Given the description of an element on the screen output the (x, y) to click on. 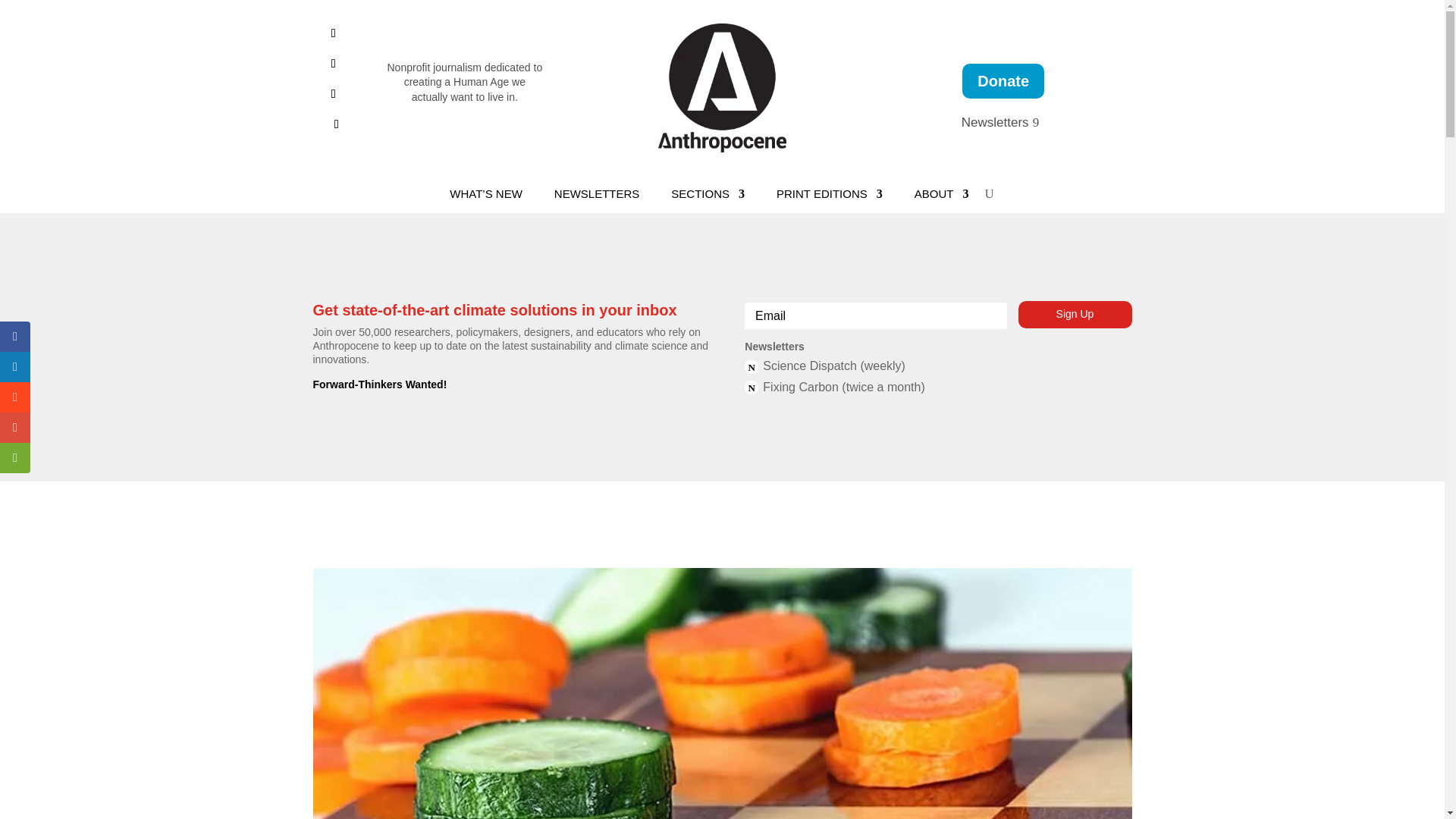
Anthropocene-mark250 (722, 87)
PRINT EDITIONS (829, 197)
Follow on RSS (336, 124)
Follow on LinkedIn (333, 63)
Follow on FlipBoard (333, 93)
NEWSLETTERS (597, 197)
Newsletters (1003, 123)
SECTIONS (707, 197)
Follow on Facebook (333, 33)
Donate (1002, 80)
